Given the description of an element on the screen output the (x, y) to click on. 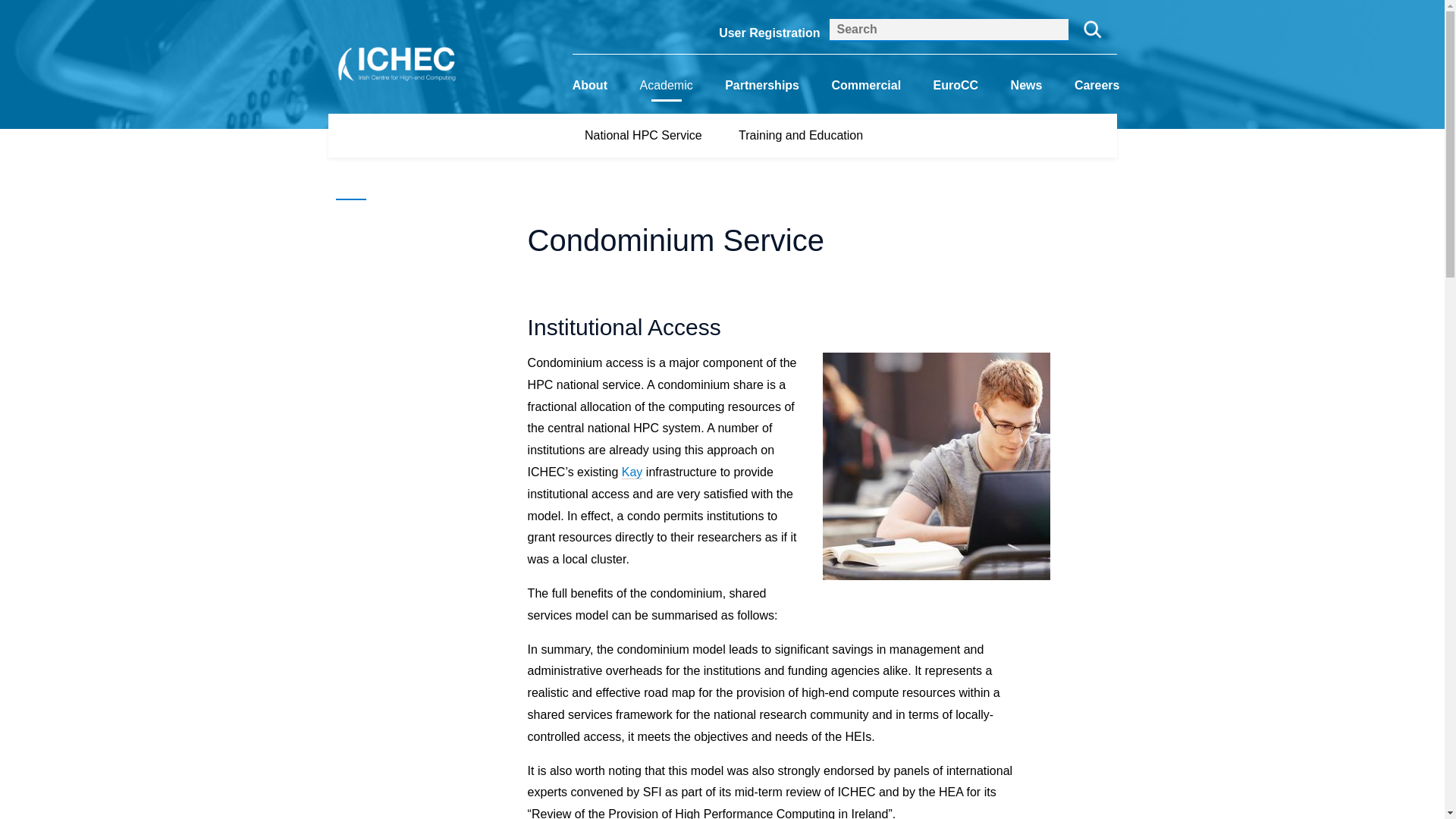
Search (1091, 29)
Search (1091, 29)
